Given the description of an element on the screen output the (x, y) to click on. 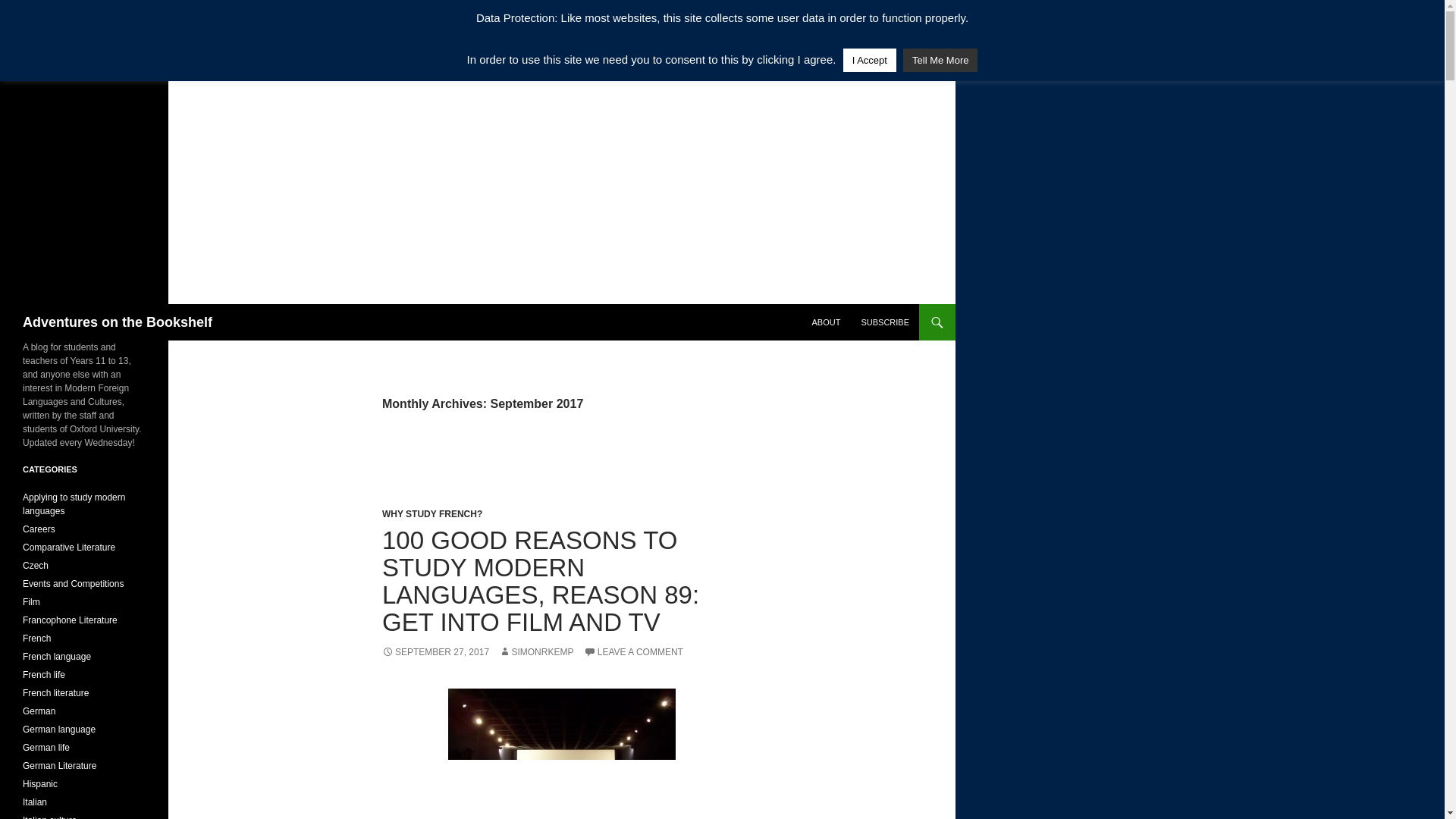
SUBSCRIBE (884, 321)
Adventures on the Bookshelf (117, 321)
WHY STUDY FRENCH? (431, 513)
ABOUT (825, 321)
SIMONRKEMP (536, 652)
LEAVE A COMMENT (632, 652)
SEPTEMBER 27, 2017 (435, 652)
